Given the description of an element on the screen output the (x, y) to click on. 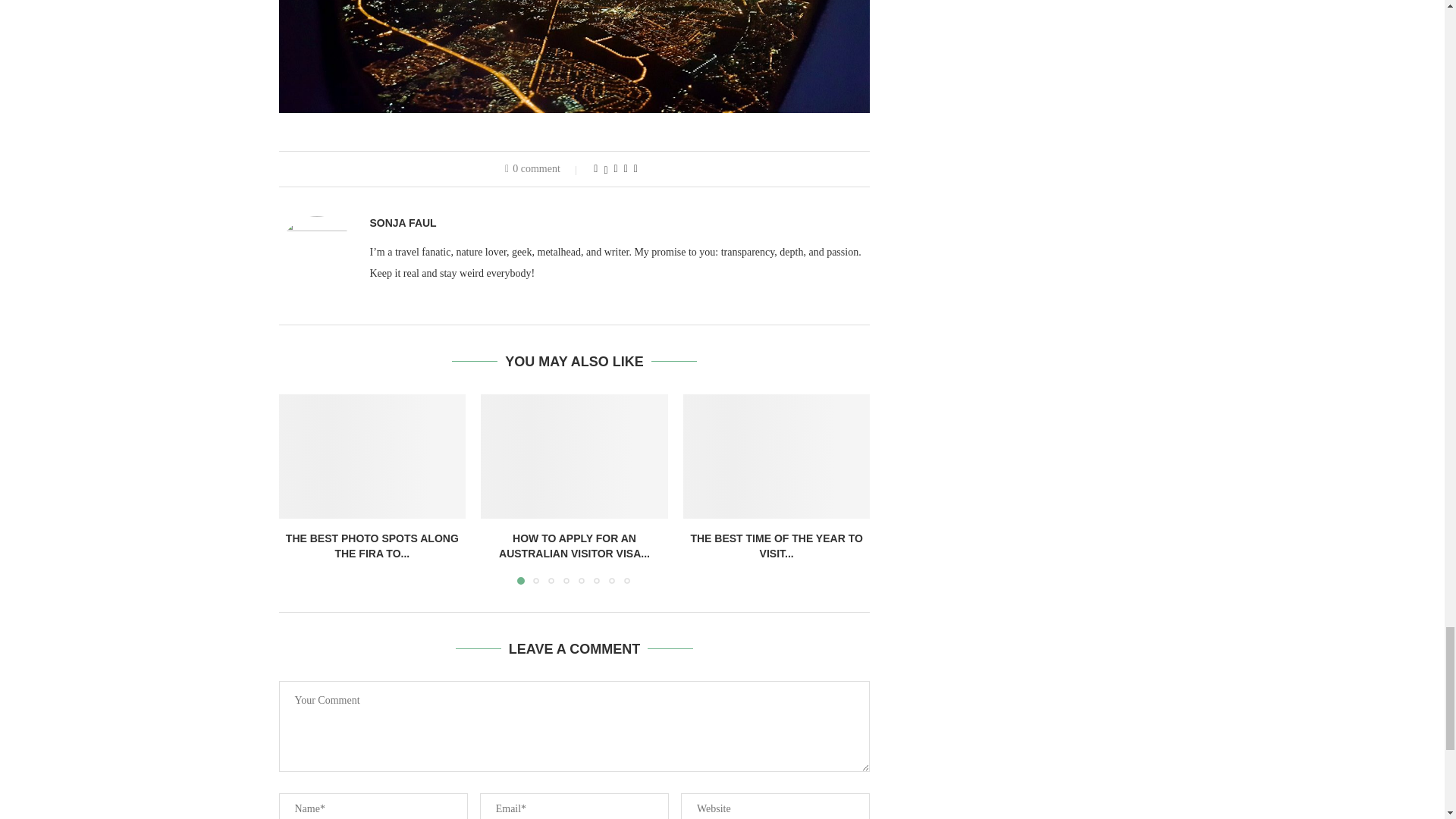
The best time of the year to visit Amsterdam (776, 455)
The best photo spots along the Fira to Oia hike (372, 455)
How to apply for an Australian Visitor Visa online (574, 455)
Author Sonja Faul (402, 223)
